Given the description of an element on the screen output the (x, y) to click on. 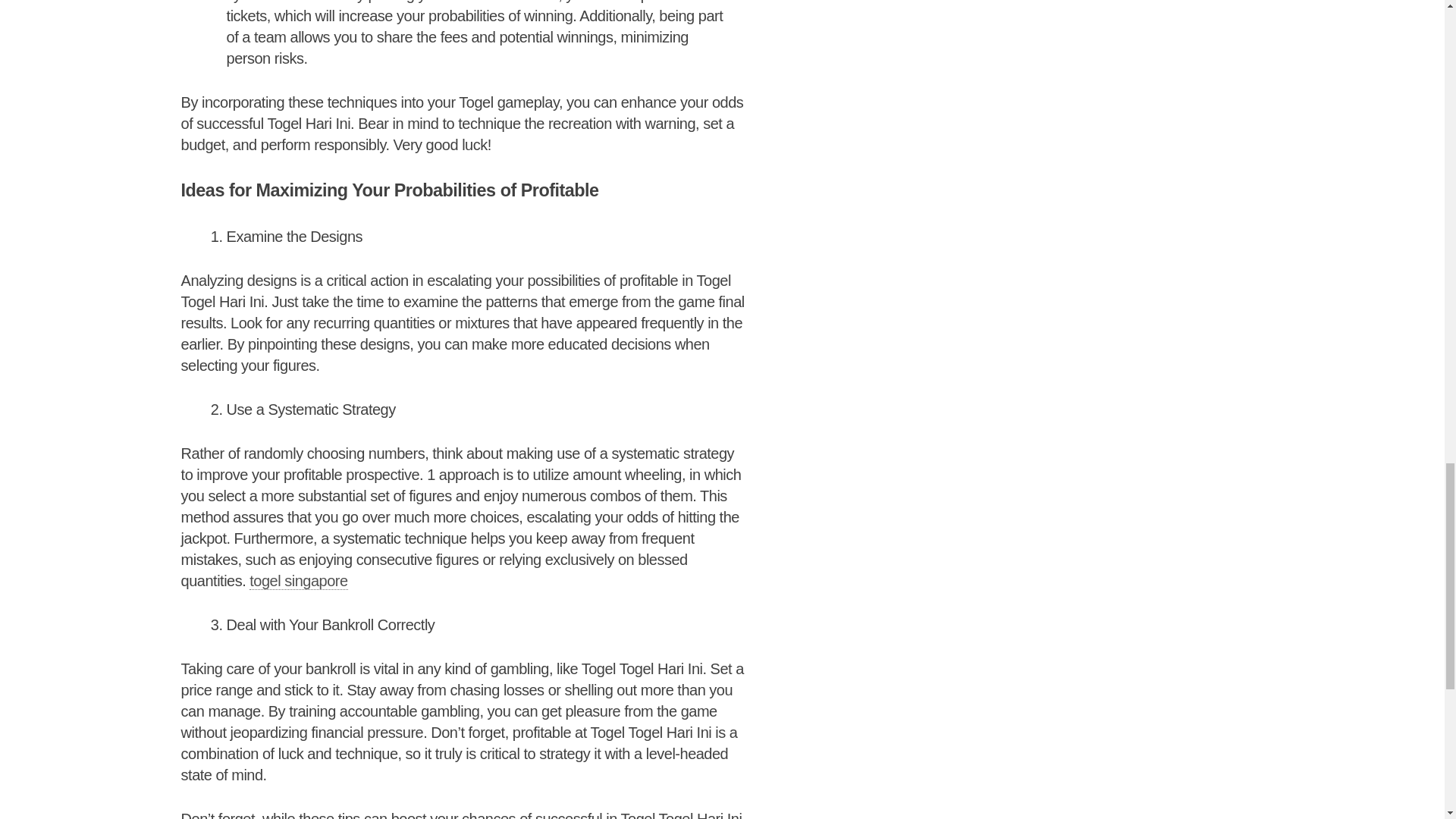
togel singapore (297, 580)
